Given the description of an element on the screen output the (x, y) to click on. 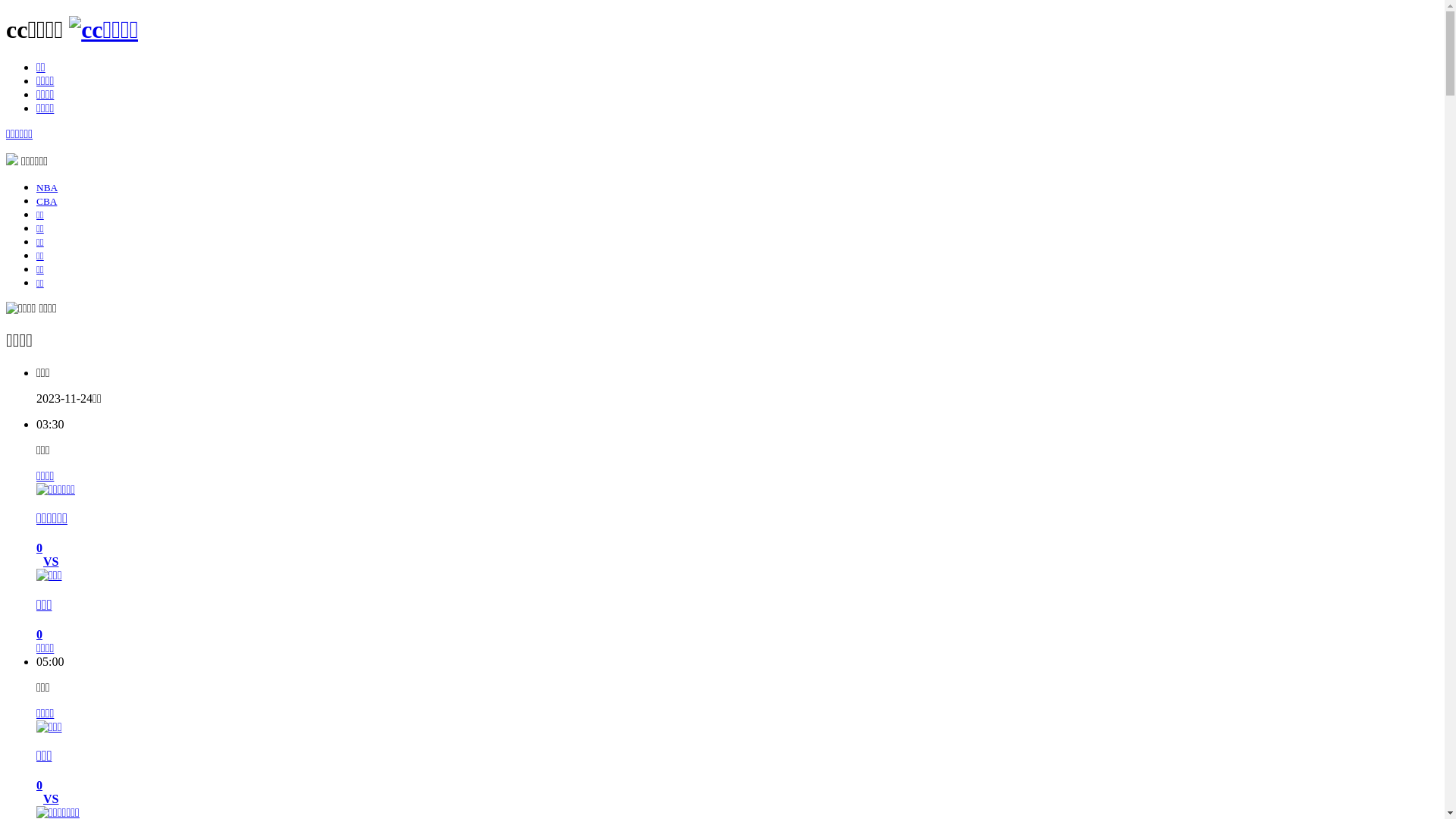
CBA Element type: text (46, 201)
NBA Element type: text (46, 187)
